Given the description of an element on the screen output the (x, y) to click on. 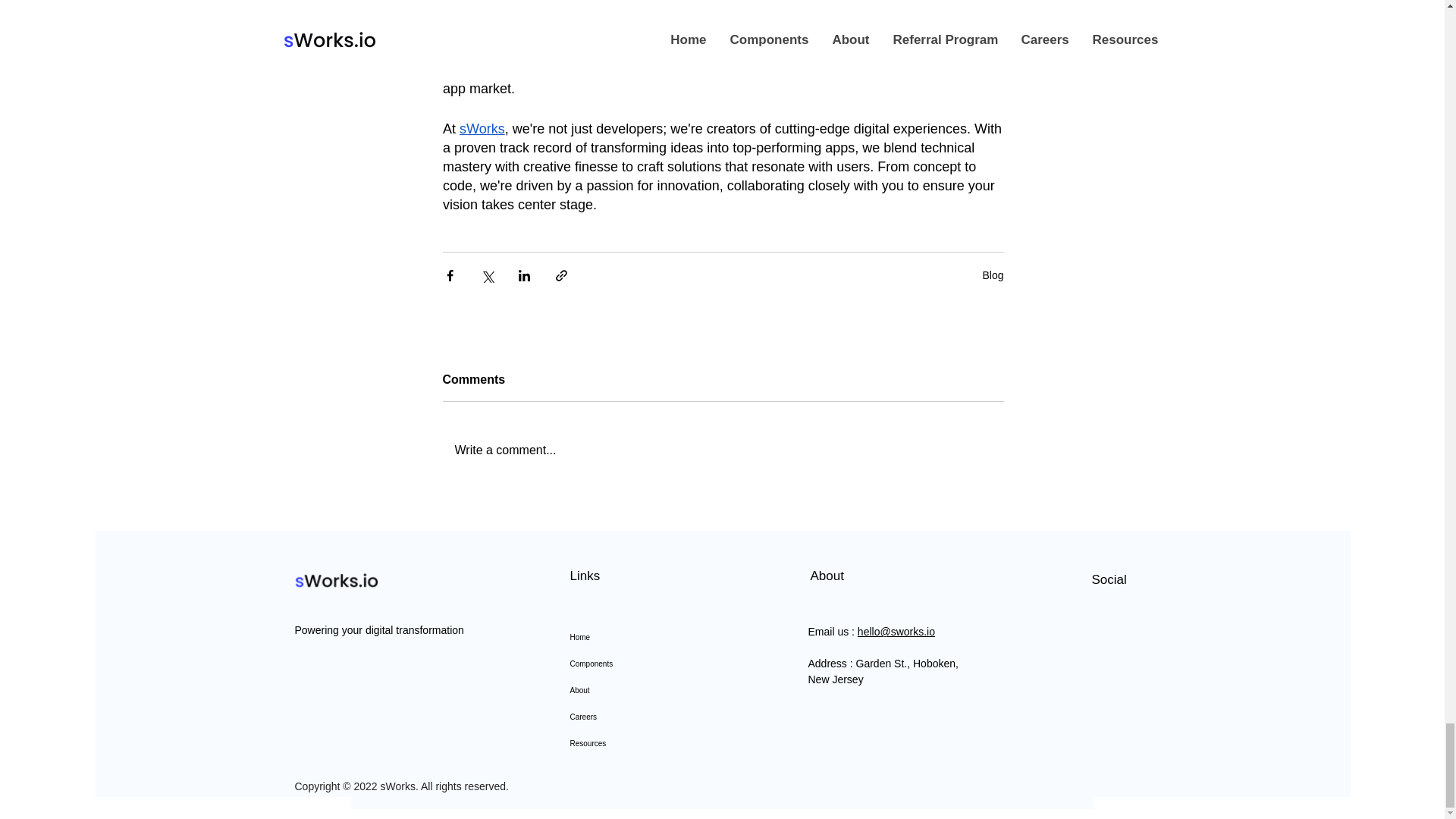
Careers (641, 716)
Blog (992, 275)
About (641, 690)
Write a comment... (723, 450)
sWorks (482, 128)
Resources (641, 743)
Home (641, 637)
Components (641, 663)
